Given the description of an element on the screen output the (x, y) to click on. 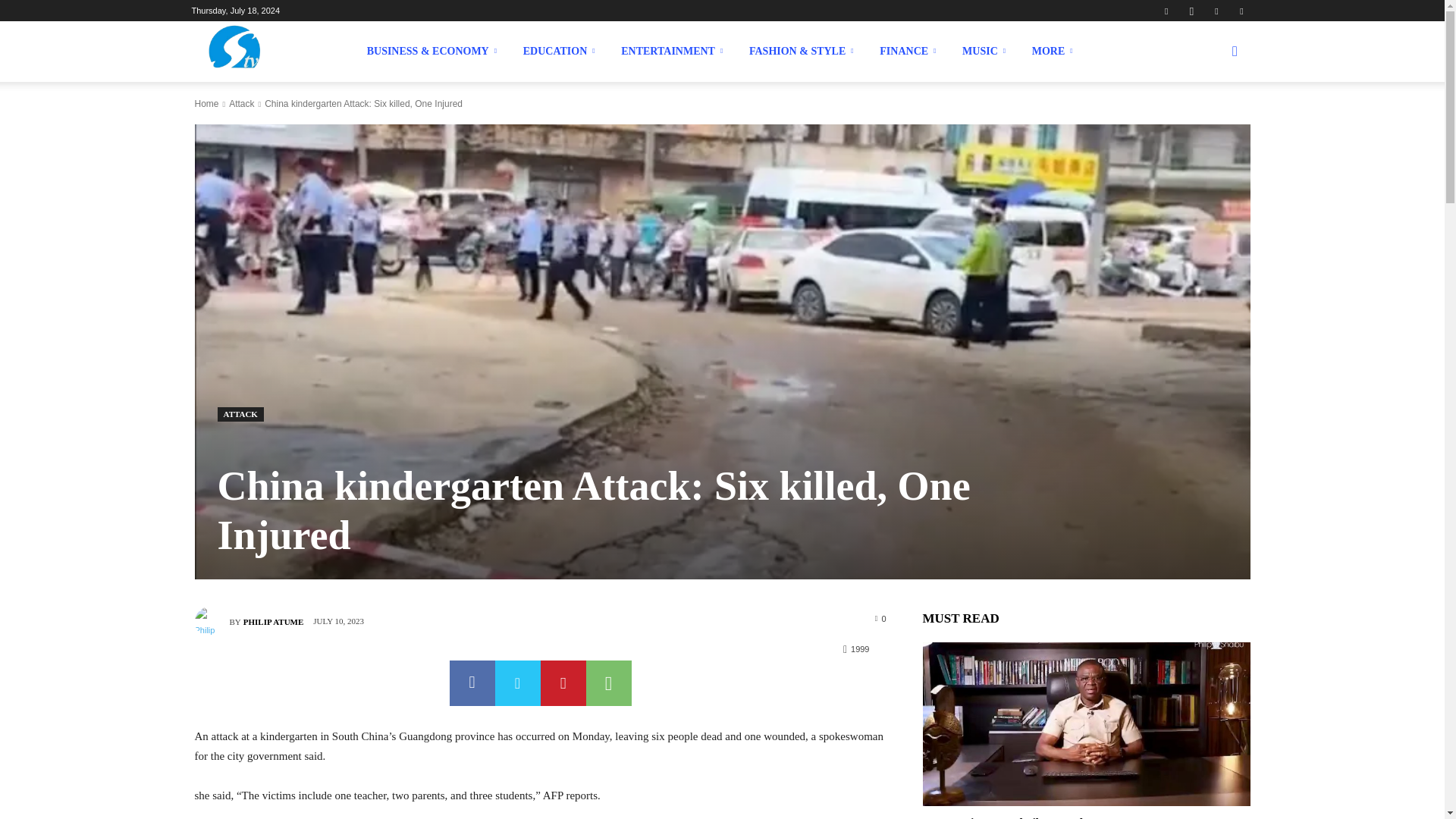
Facebook (1165, 10)
SilverbirdTV (234, 51)
Instagram (1190, 10)
Search (1210, 124)
Youtube (1241, 10)
Twitter (1216, 10)
